Given the description of an element on the screen output the (x, y) to click on. 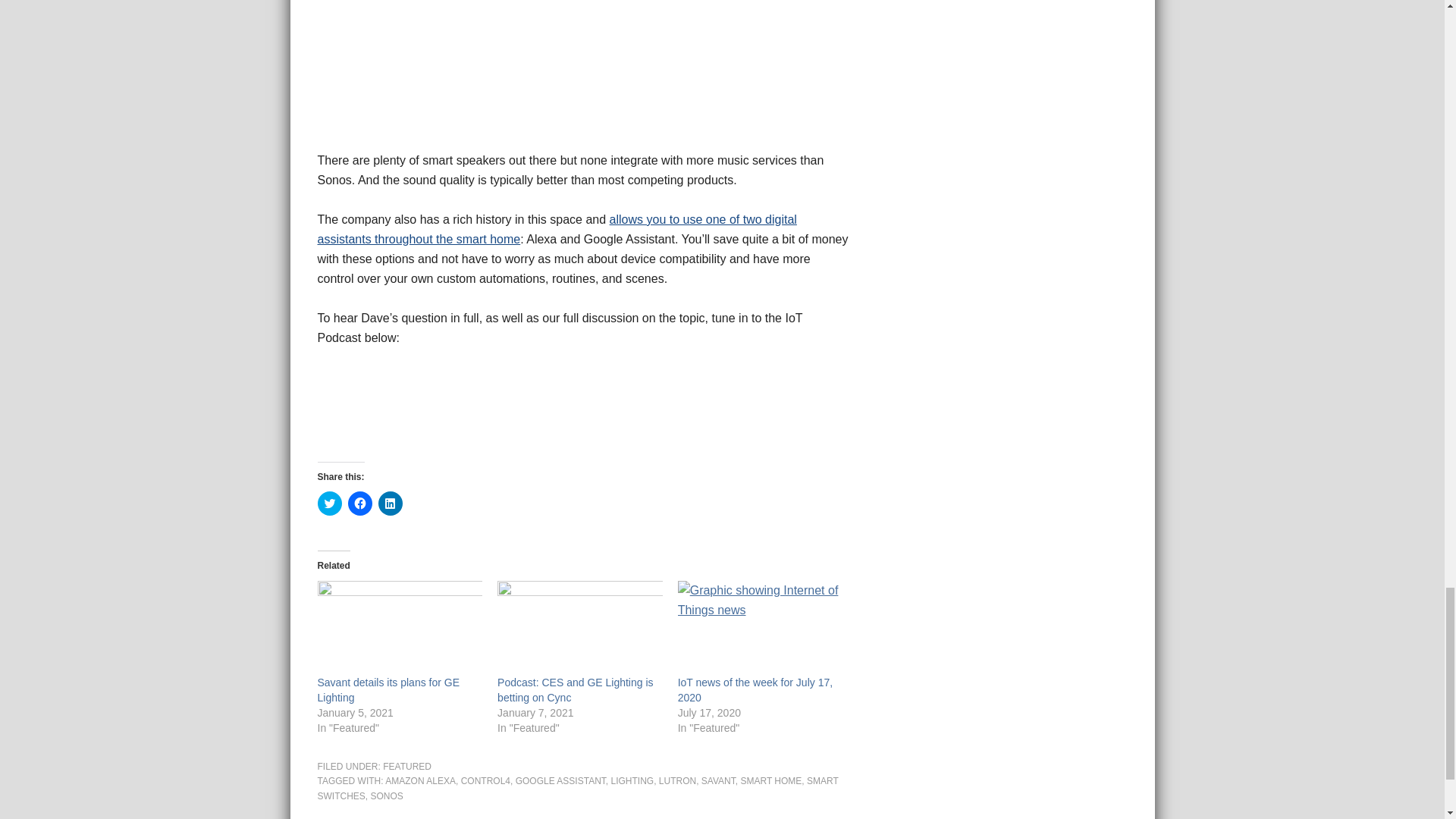
Savant details its plans for GE Lighting (388, 689)
Savant details its plans for GE Lighting (399, 627)
SMART HOME (770, 780)
AMAZON ALEXA (420, 780)
IoT news of the week for July 17, 2020 (755, 689)
GOOGLE ASSISTANT (560, 780)
Click to share on Facebook (359, 503)
Podcast: CES and GE Lighting is betting on Cync (574, 689)
Podcast: CES and GE Lighting is betting on Cync (574, 689)
FEATURED (406, 766)
CONTROL4 (486, 780)
SAVANT (718, 780)
LIGHTING (632, 780)
IoT news of the week for July 17, 2020 (755, 689)
